Given the description of an element on the screen output the (x, y) to click on. 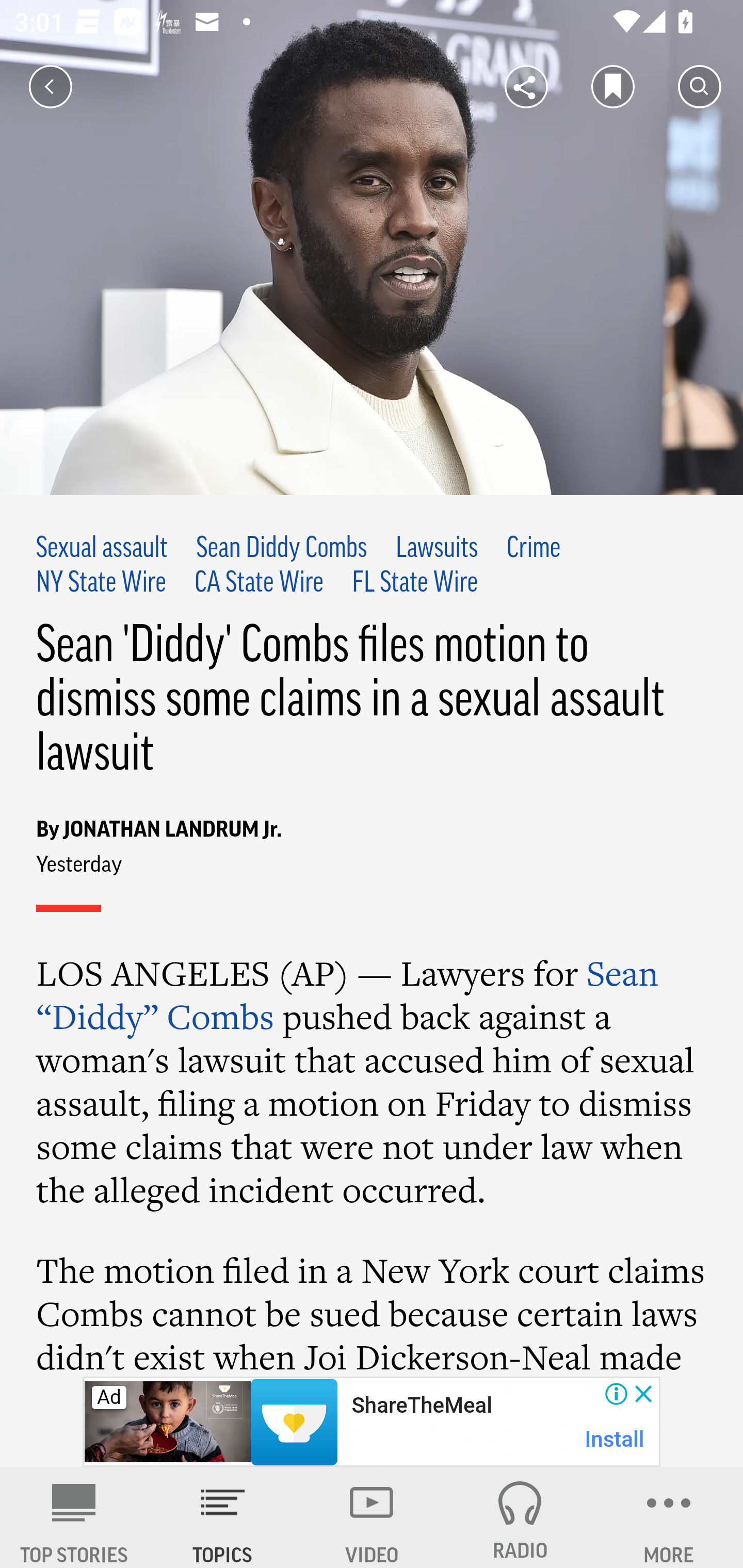
Sexual assault (102, 549)
Sean Diddy Combs (281, 549)
Lawsuits (435, 549)
Crime (533, 549)
NY State Wire (101, 584)
CA State Wire (259, 584)
FL State Wire (414, 584)
Sean “Diddy” Combs (347, 994)
ShareTheMeal (420, 1405)
Install (614, 1438)
AP News TOP STORIES (74, 1517)
TOPICS (222, 1517)
VIDEO (371, 1517)
RADIO (519, 1517)
MORE (668, 1517)
